Given the description of an element on the screen output the (x, y) to click on. 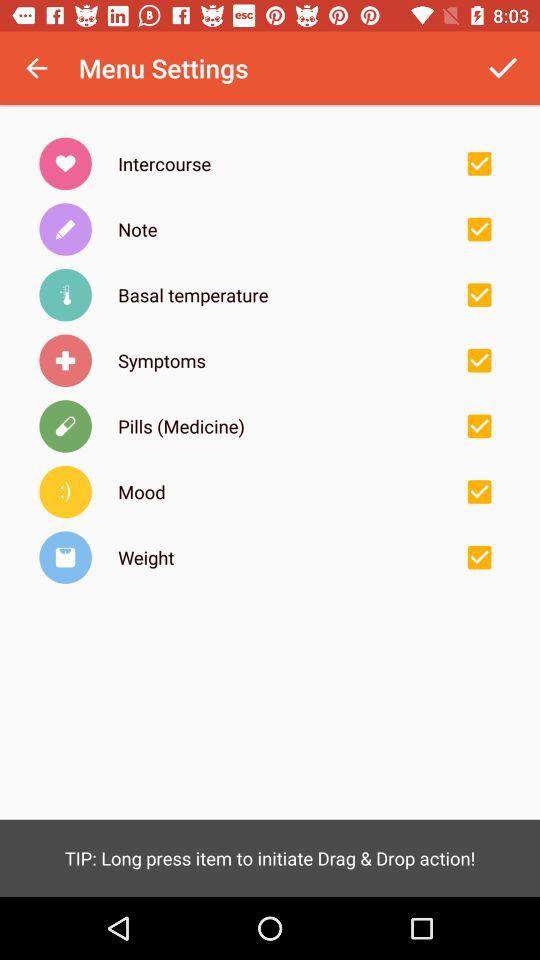
tick the checkbox (479, 426)
